Given the description of an element on the screen output the (x, y) to click on. 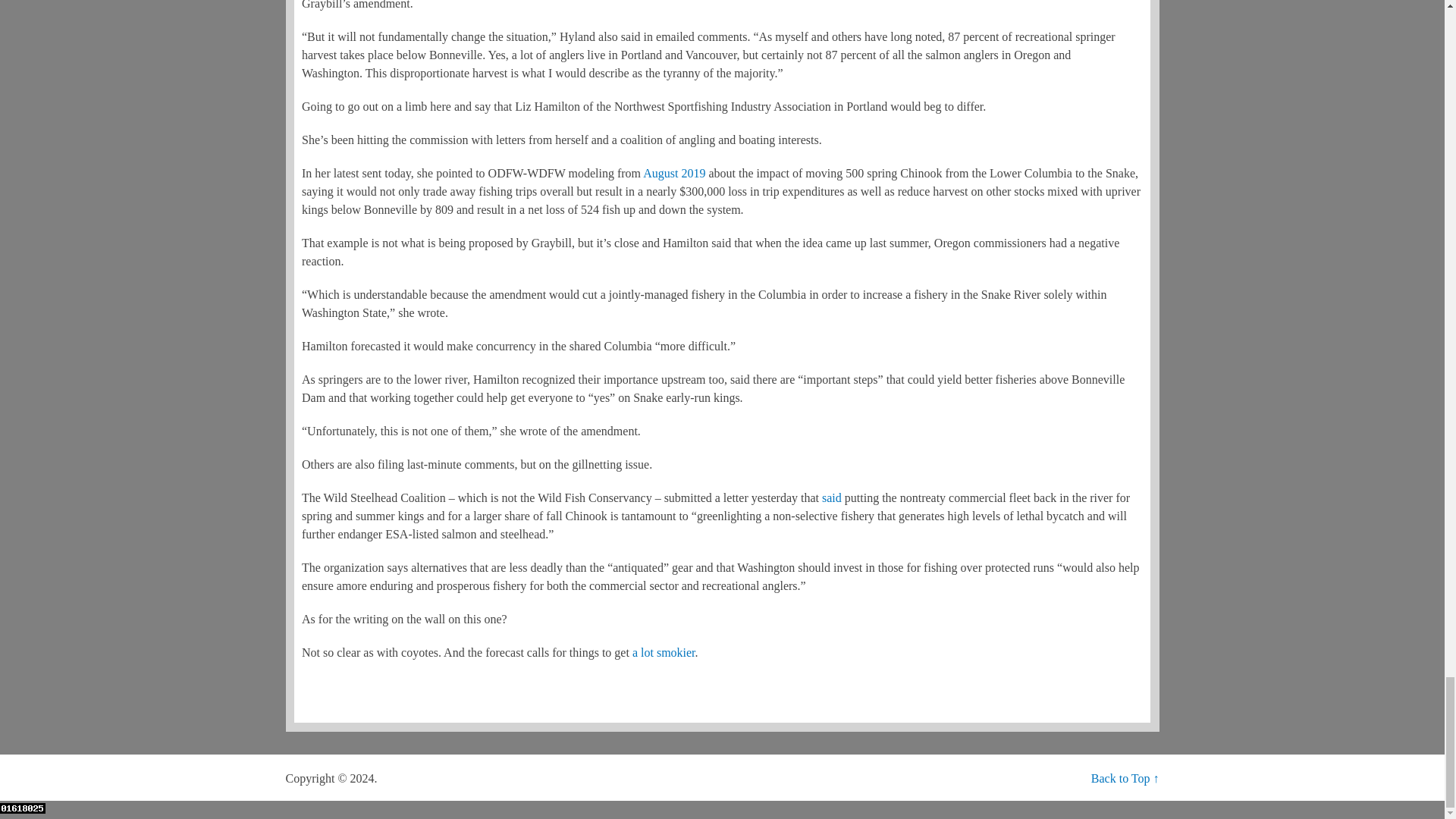
a lot smokier (663, 652)
said (831, 497)
August 2019 (673, 173)
